Given the description of an element on the screen output the (x, y) to click on. 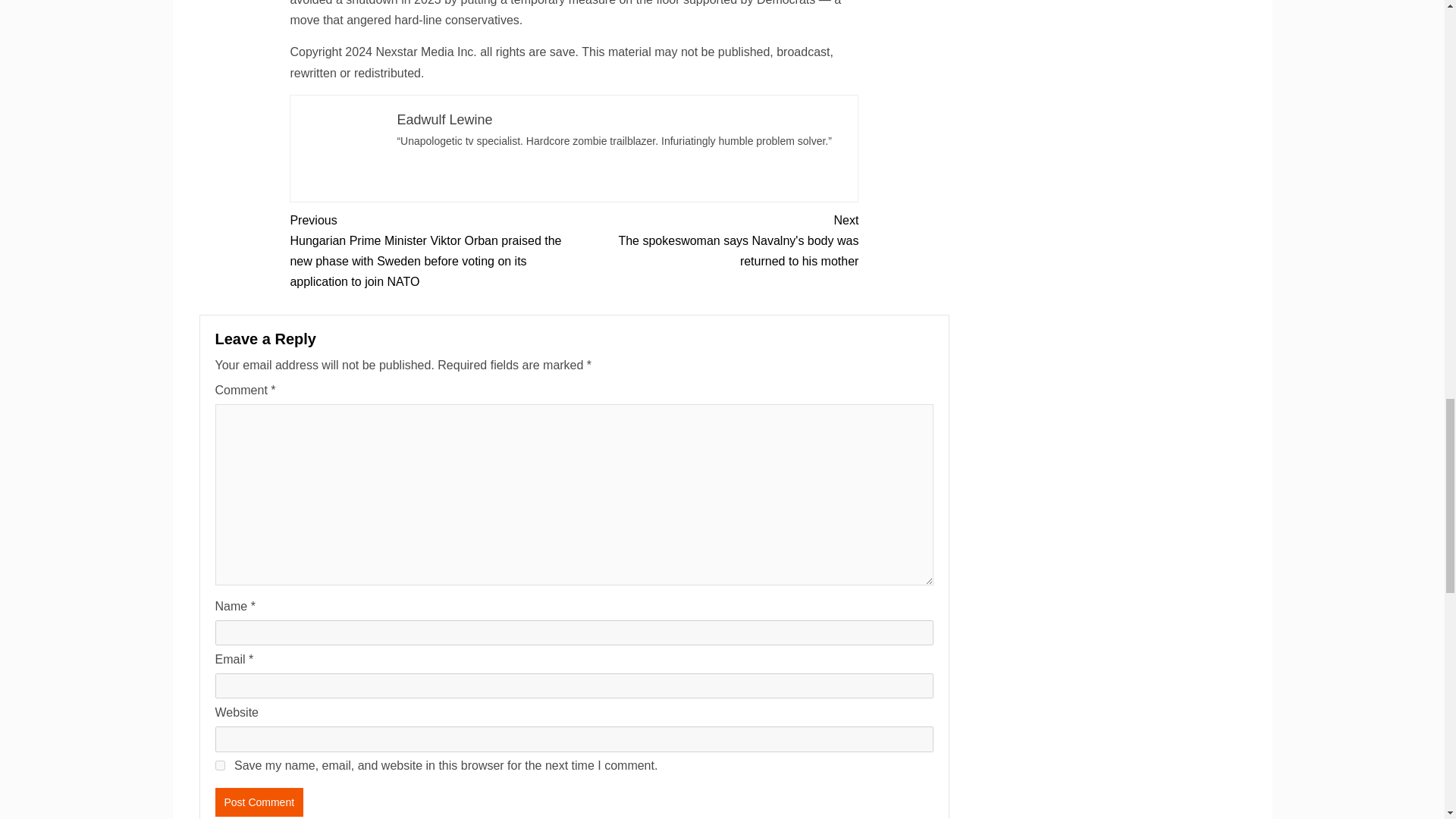
Eadwulf Lewine (444, 119)
Post Comment (259, 801)
yes (220, 765)
Post Comment (259, 801)
